Given the description of an element on the screen output the (x, y) to click on. 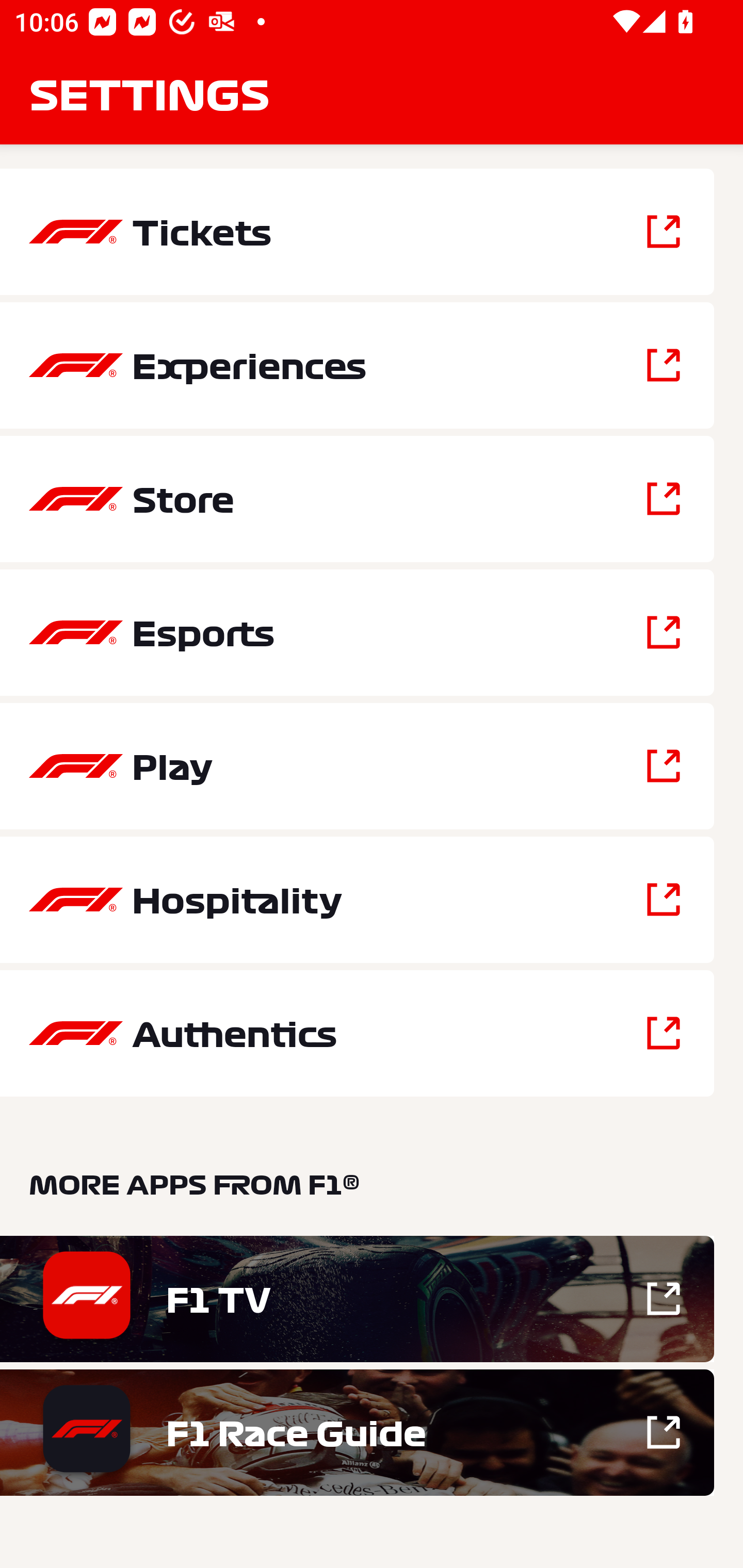
Tickets (357, 231)
Experiences (357, 365)
Store (357, 498)
Esports (357, 632)
Play (357, 765)
Hospitality (357, 899)
Authentics (357, 1033)
F1 TV (357, 1298)
F1 Race Guide (357, 1431)
